Given the description of an element on the screen output the (x, y) to click on. 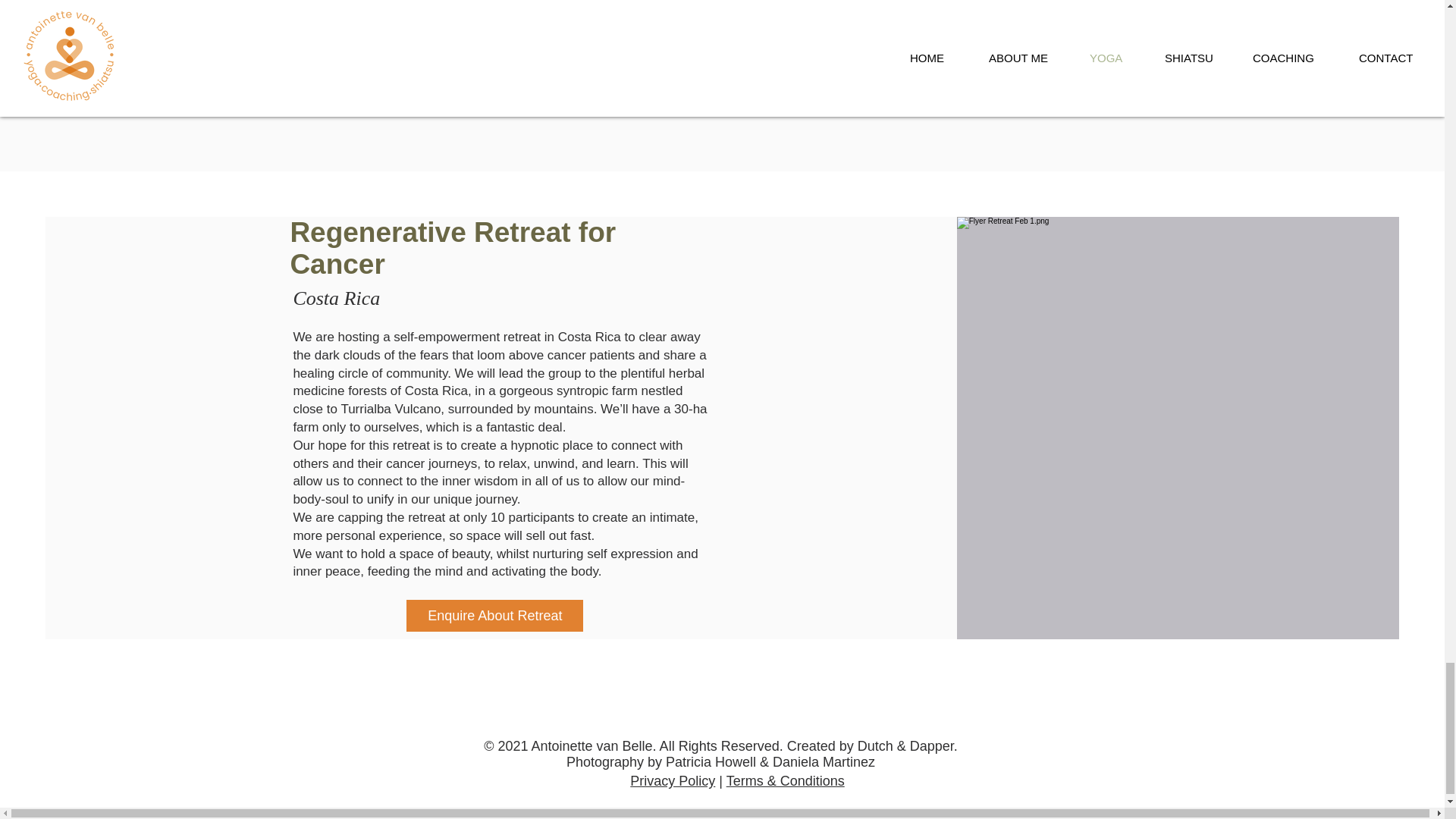
Privacy Policy (672, 780)
Enquire About Retreats (361, 74)
Enquire About Retreat (494, 615)
